Given the description of an element on the screen output the (x, y) to click on. 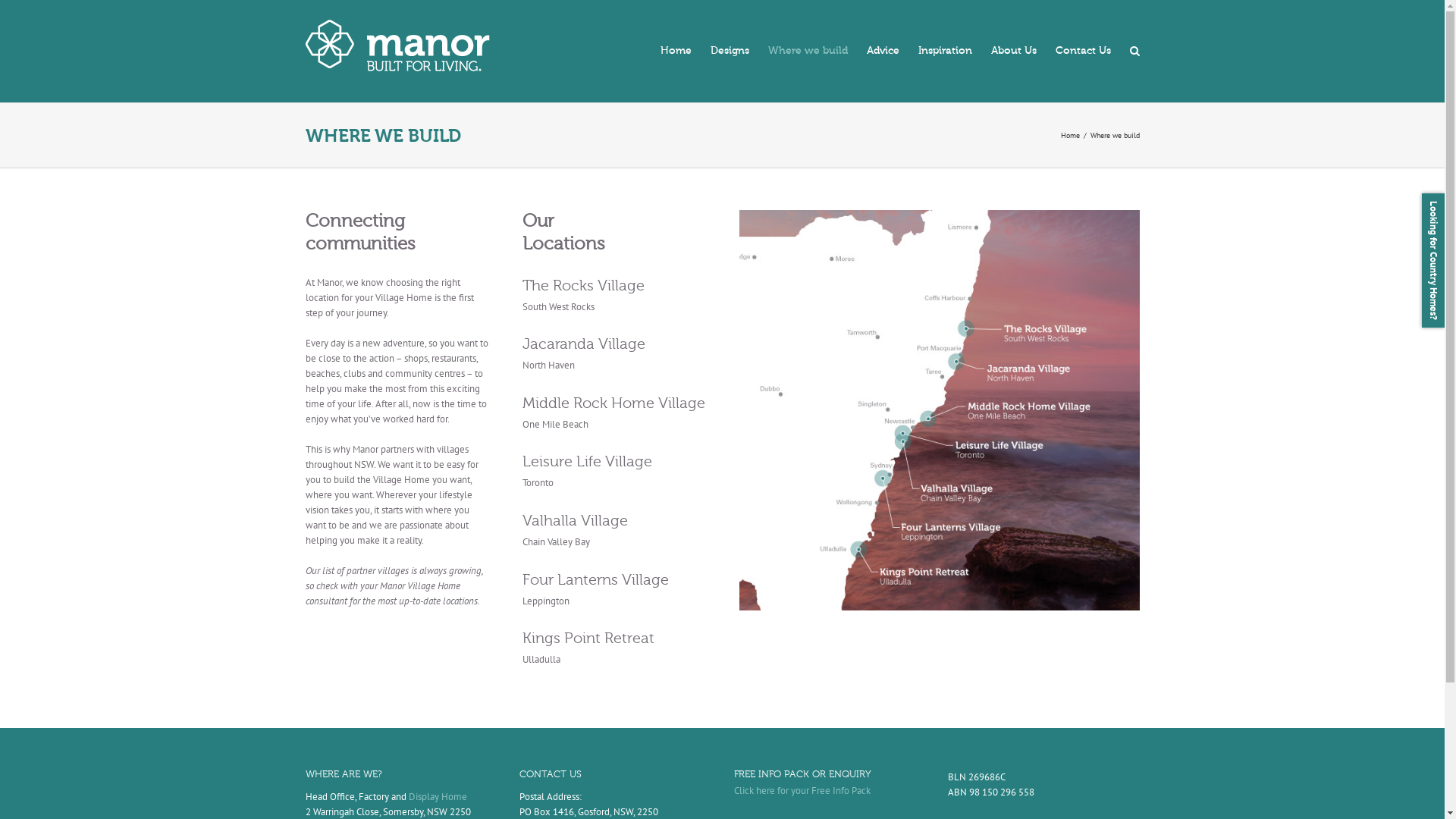
Home Element type: text (674, 51)
Where we build Element type: text (807, 51)
About Us Element type: text (1012, 51)
Inspiration Element type: text (944, 51)
Contact Us Element type: text (1082, 51)
Display Home Element type: text (436, 796)
Click here for your Free Info Pack Element type: text (802, 790)
Home Element type: text (1069, 135)
Designs Element type: text (728, 51)
Advice Element type: text (882, 51)
